Given the description of an element on the screen output the (x, y) to click on. 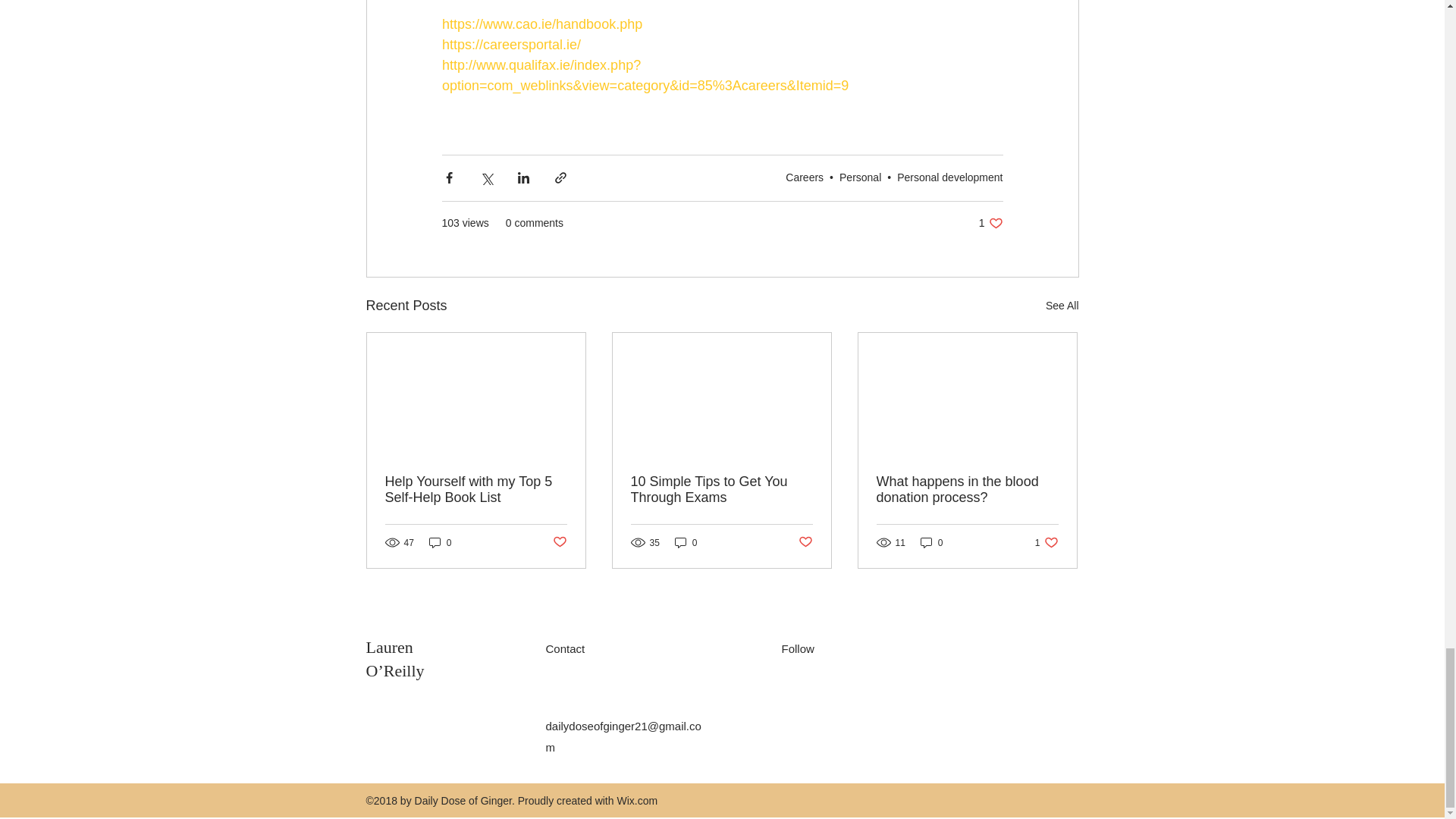
Personal (860, 177)
Careers (805, 177)
